Given the description of an element on the screen output the (x, y) to click on. 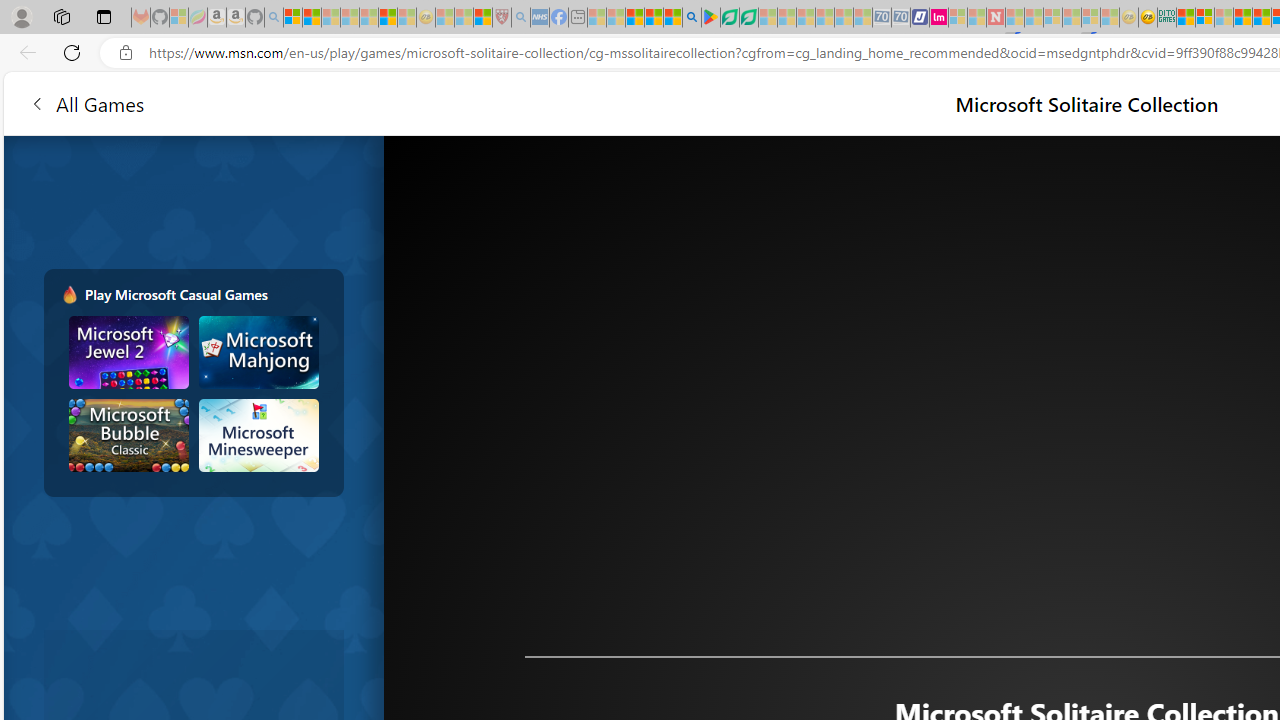
New Report Confirms 2023 Was Record Hot | Watch - Sleeping (368, 17)
Microsoft-Report a Concern to Bing - Sleeping (179, 17)
Latest Politics News & Archive | Newsweek.com - Sleeping (995, 17)
Kinda Frugal - MSN (1262, 17)
New tab - Sleeping (578, 17)
Microsoft Jewel 2 (129, 352)
Local - MSN (482, 17)
All Games (86, 102)
Expert Portfolios (1242, 17)
google - Search (692, 17)
